Given the description of an element on the screen output the (x, y) to click on. 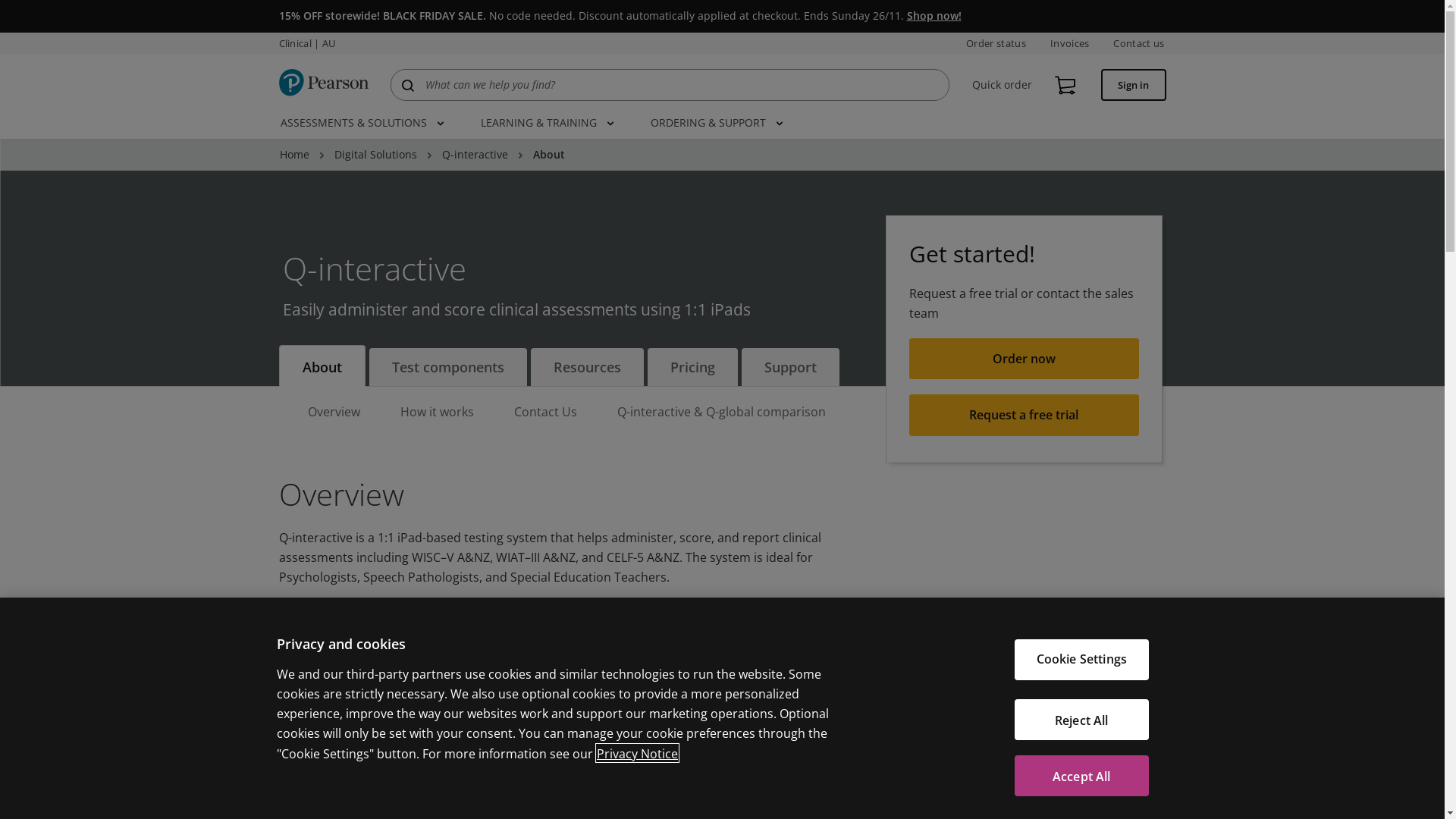
Overview Element type: text (333, 413)
About Element type: text (322, 365)
Q-interactive Element type: text (474, 154)
Test components Element type: text (447, 366)
Reject All Element type: text (1081, 719)
Invoices Element type: text (1069, 42)
Home Element type: text (293, 154)
Quick order Element type: text (1002, 84)
Q-interactive & Q-global comparison Element type: text (721, 413)
How it works Element type: text (437, 413)
Order now Element type: text (335, 774)
Contact us Element type: text (1138, 42)
Order now Element type: text (1024, 358)
Cookie Settings Element type: text (1081, 659)
Request a free trial Element type: text (1024, 415)
ORDERING & SUPPORT Element type: text (716, 119)
Clinical | AU Element type: text (307, 42)
Contact Us Element type: text (545, 413)
Submit the search query. Element type: hover (407, 85)
Resources Element type: text (586, 366)
LEARNING & TRAINING Element type: text (547, 119)
Accept All Element type: text (1081, 775)
Privacy Notice Element type: text (636, 752)
Pricing Element type: text (692, 366)
Digital Solutions Element type: text (374, 154)
Sign in Element type: text (1133, 84)
Support Element type: text (790, 366)
ASSESSMENTS & SOLUTIONS Element type: text (362, 119)
Shop now! Element type: text (933, 15)
Order status Element type: text (996, 42)
